Given the description of an element on the screen output the (x, y) to click on. 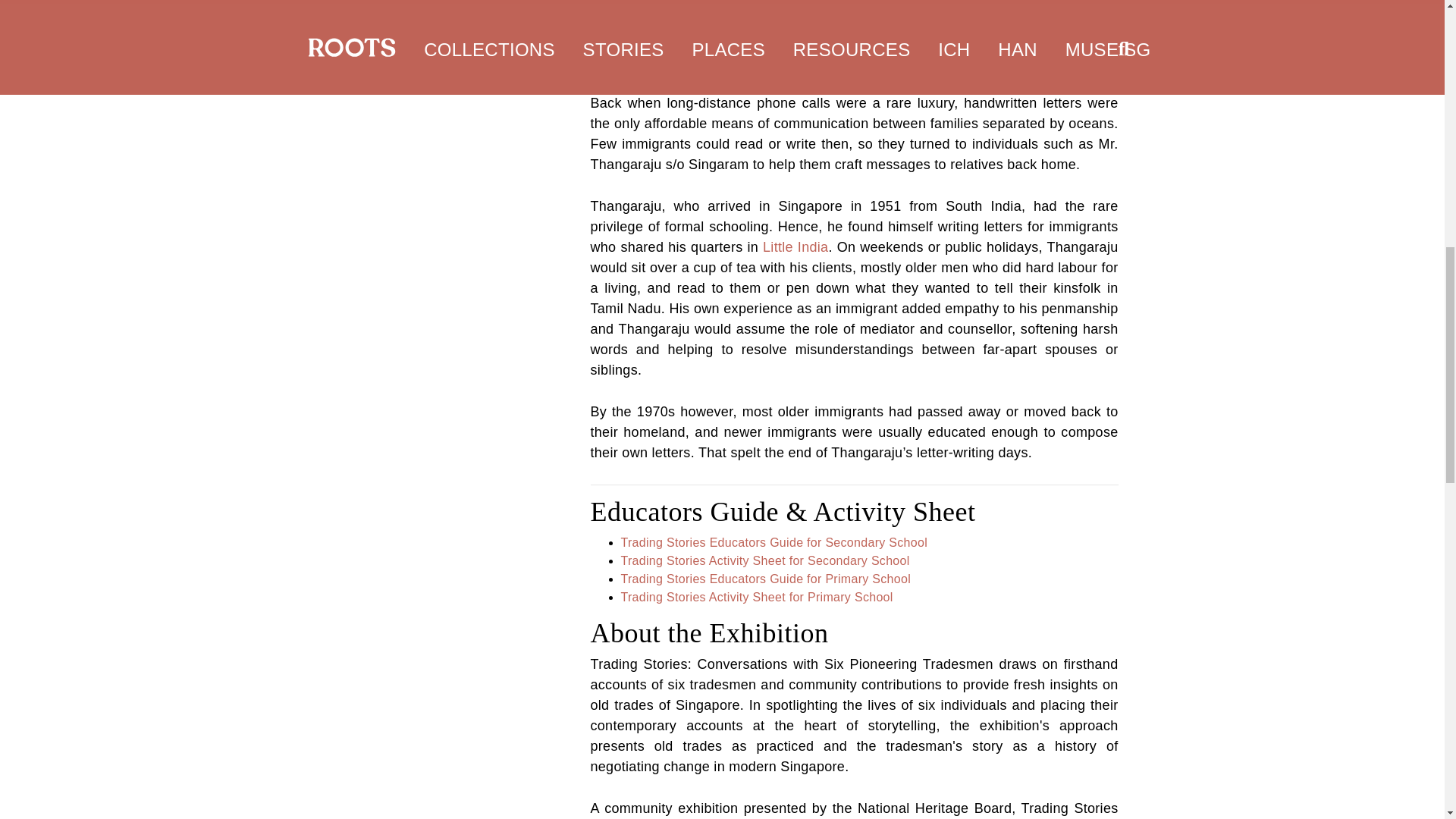
Little India (795, 246)
Trading Stories Educators Guide for Primary School (765, 578)
Trading Stories Activity Sheet for Primary School (756, 596)
Trading Stories Educators Guide for Secondary School (773, 542)
Trading Stories Activity Sheet for Secondary School (764, 560)
